Given the description of an element on the screen output the (x, y) to click on. 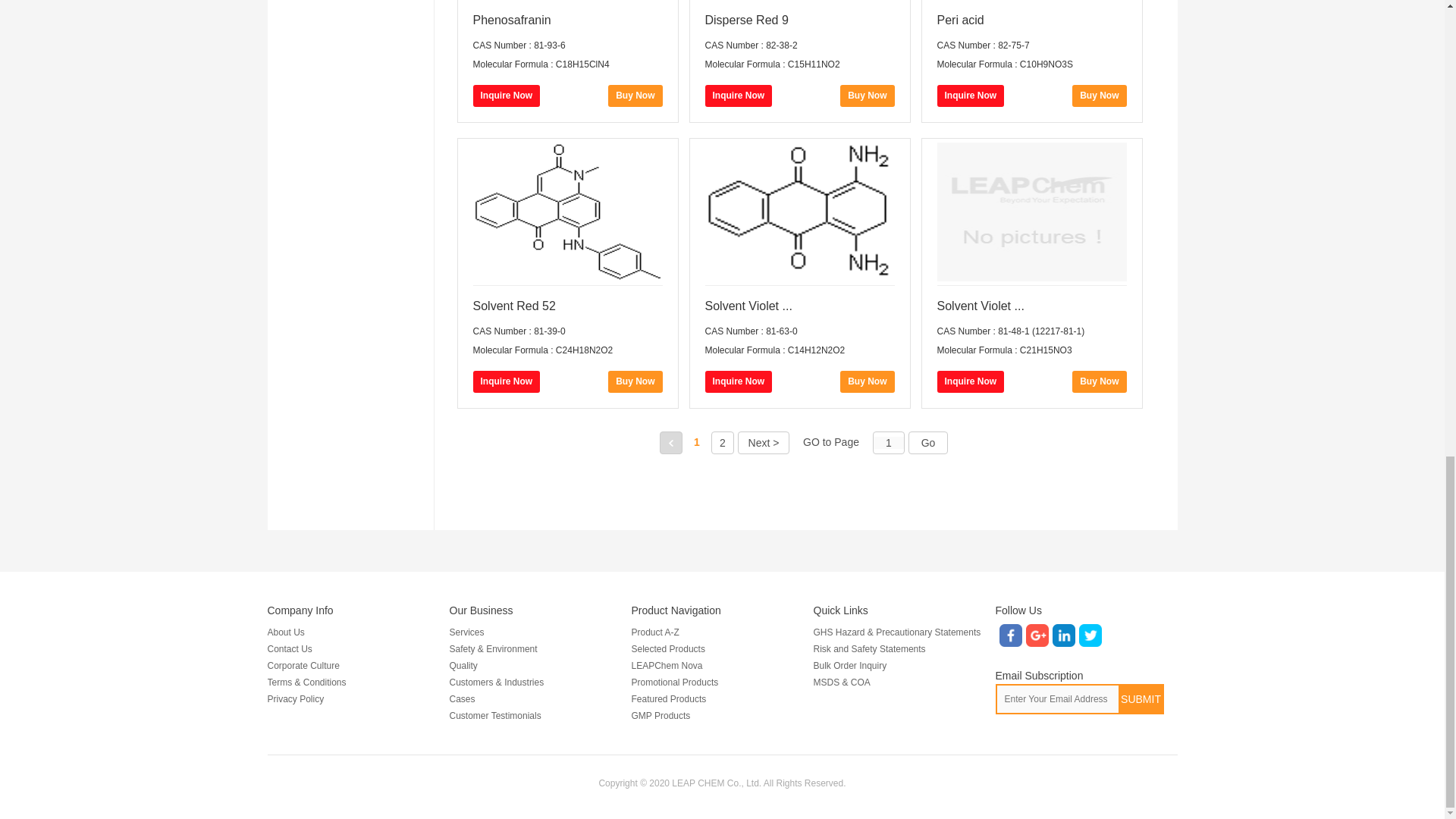
Disperse Red 9 -Grade:  (799, 20)
Peri acid -Grade:  (1031, 20)
Solvent Red 52 -Grade:  (567, 305)
Solvent Violet 47 -Grade:  (799, 305)
1 (888, 442)
Phenosafranin -Grade:  (567, 20)
Solvent Violet 13 -Grade:  (1031, 305)
